Given the description of an element on the screen output the (x, y) to click on. 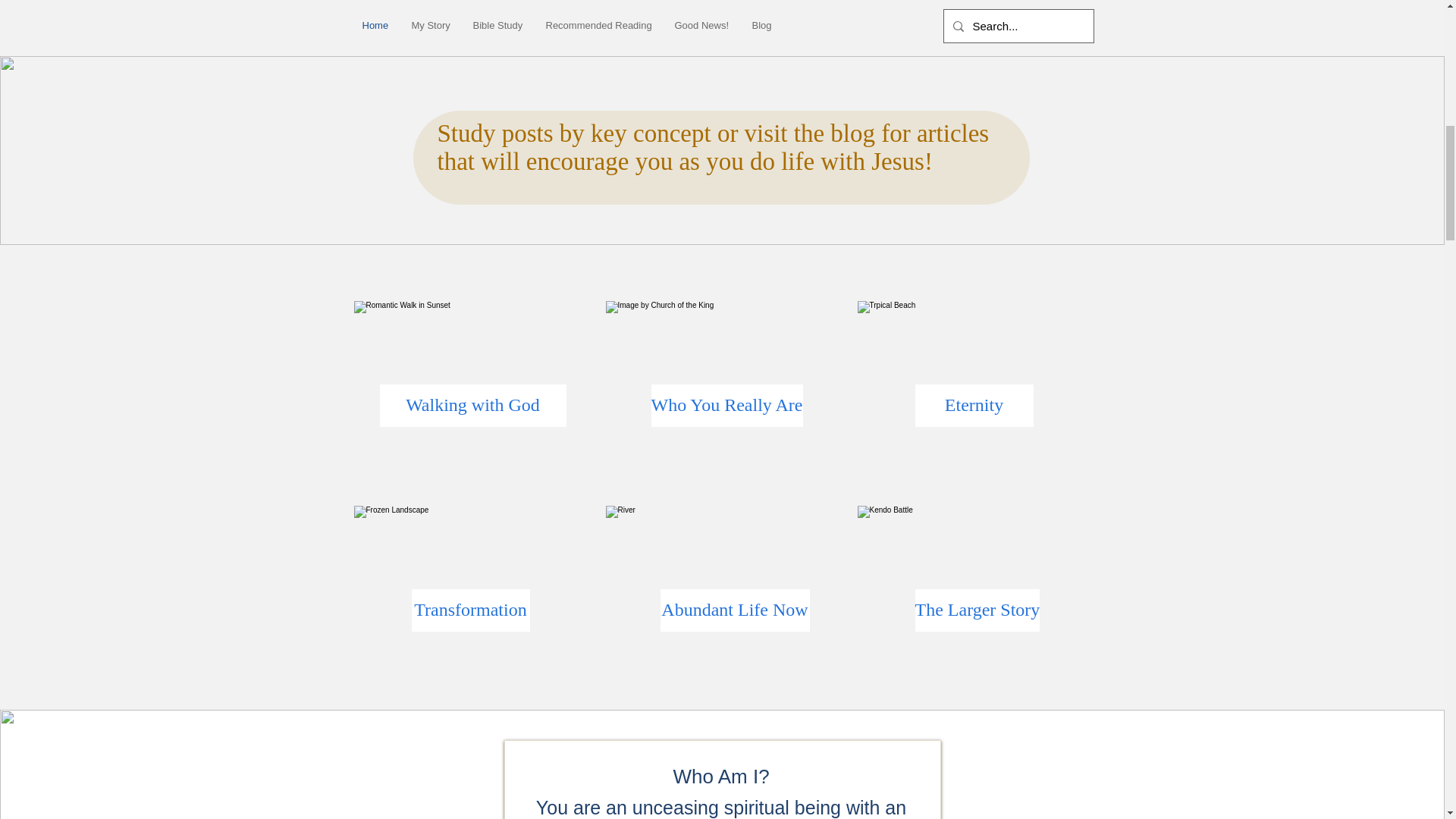
Eternity (973, 405)
Who You Really Are (726, 405)
Transformation (469, 609)
Walking with God (472, 405)
The Larger Story (976, 609)
Abundant Life Now (734, 609)
